Given the description of an element on the screen output the (x, y) to click on. 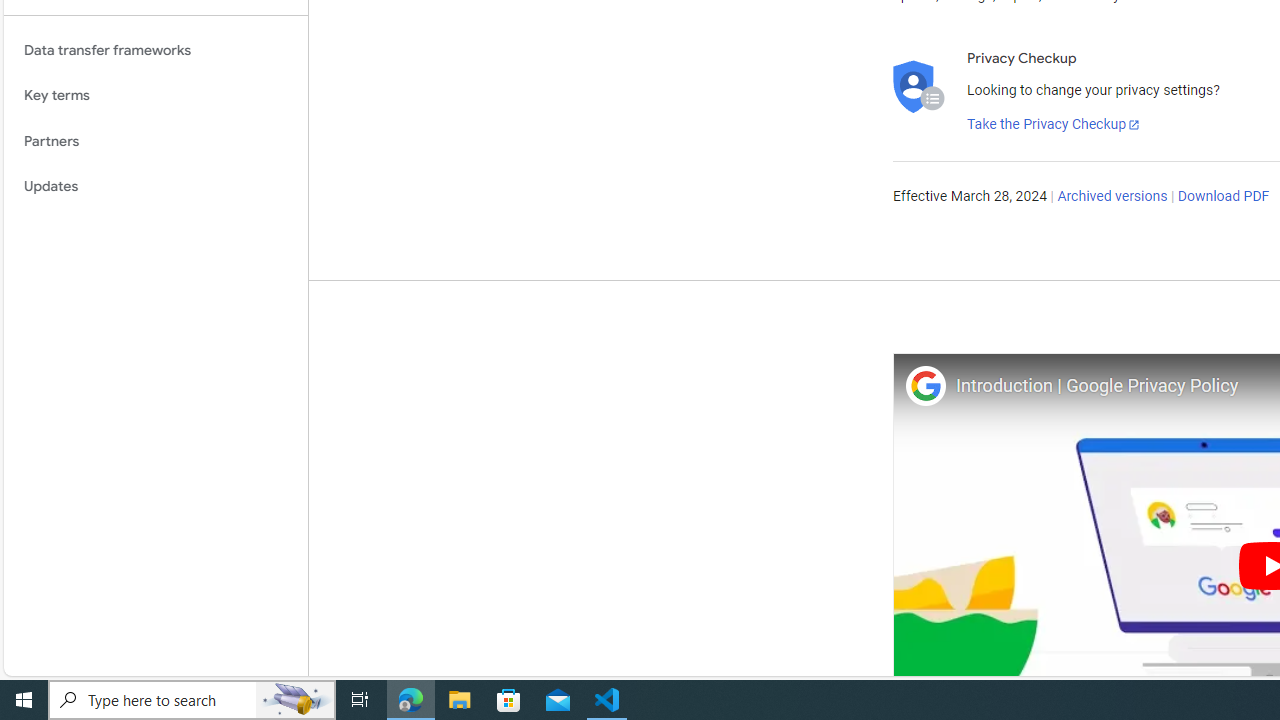
Photo image of Google (925, 385)
Partners (155, 141)
Partners (155, 141)
Key terms (155, 95)
Data transfer frameworks (155, 50)
Data transfer frameworks (155, 50)
Archived versions (1112, 196)
Updates (155, 187)
Updates (155, 187)
Key terms (155, 95)
Download PDF (1223, 196)
Take the Privacy Checkup (1053, 124)
